Given the description of an element on the screen output the (x, y) to click on. 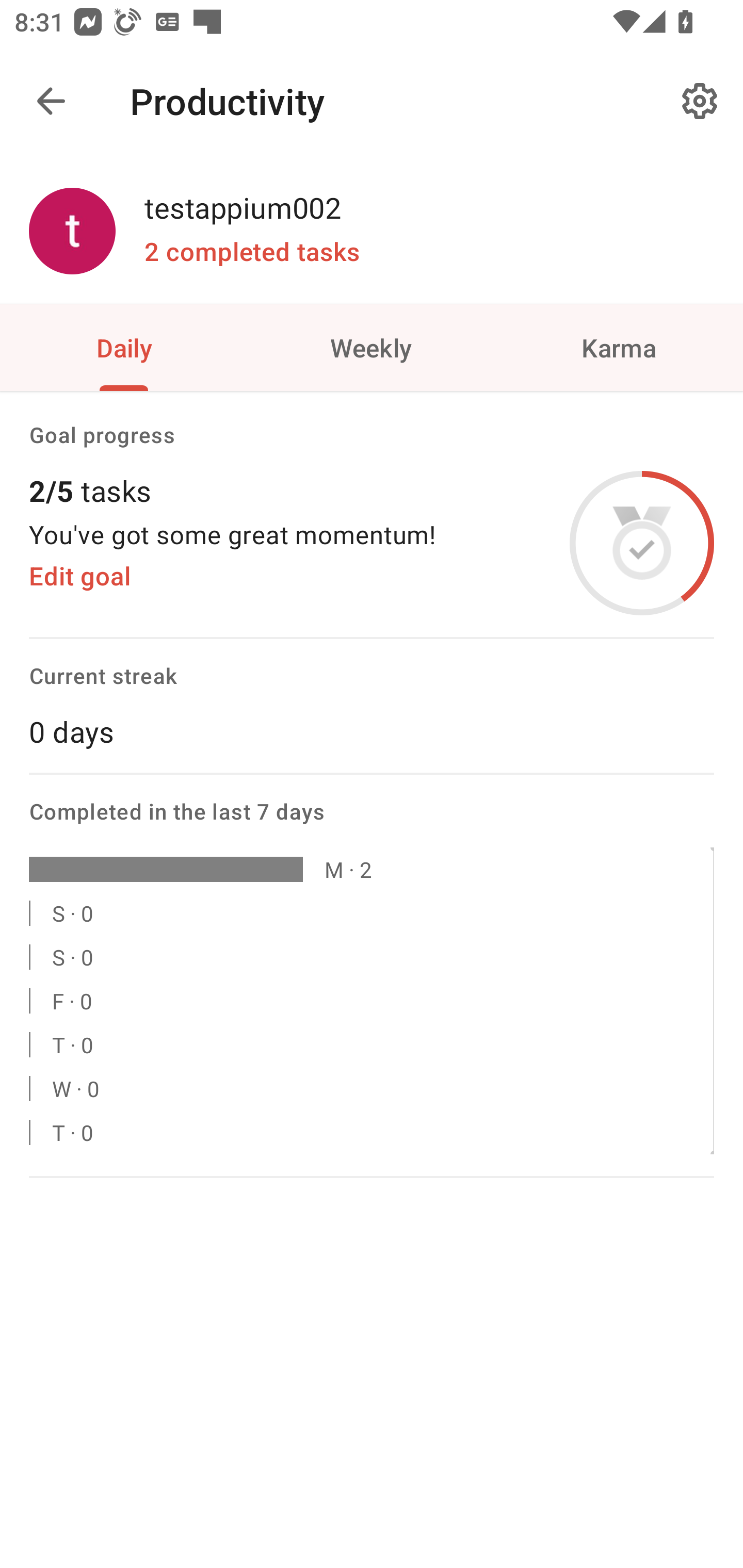
Navigate up (50, 101)
Settings (699, 101)
2 completed tasks (252, 251)
Weekly (371, 347)
Karma (619, 347)
Edit goal (79, 575)
